Given the description of an element on the screen output the (x, y) to click on. 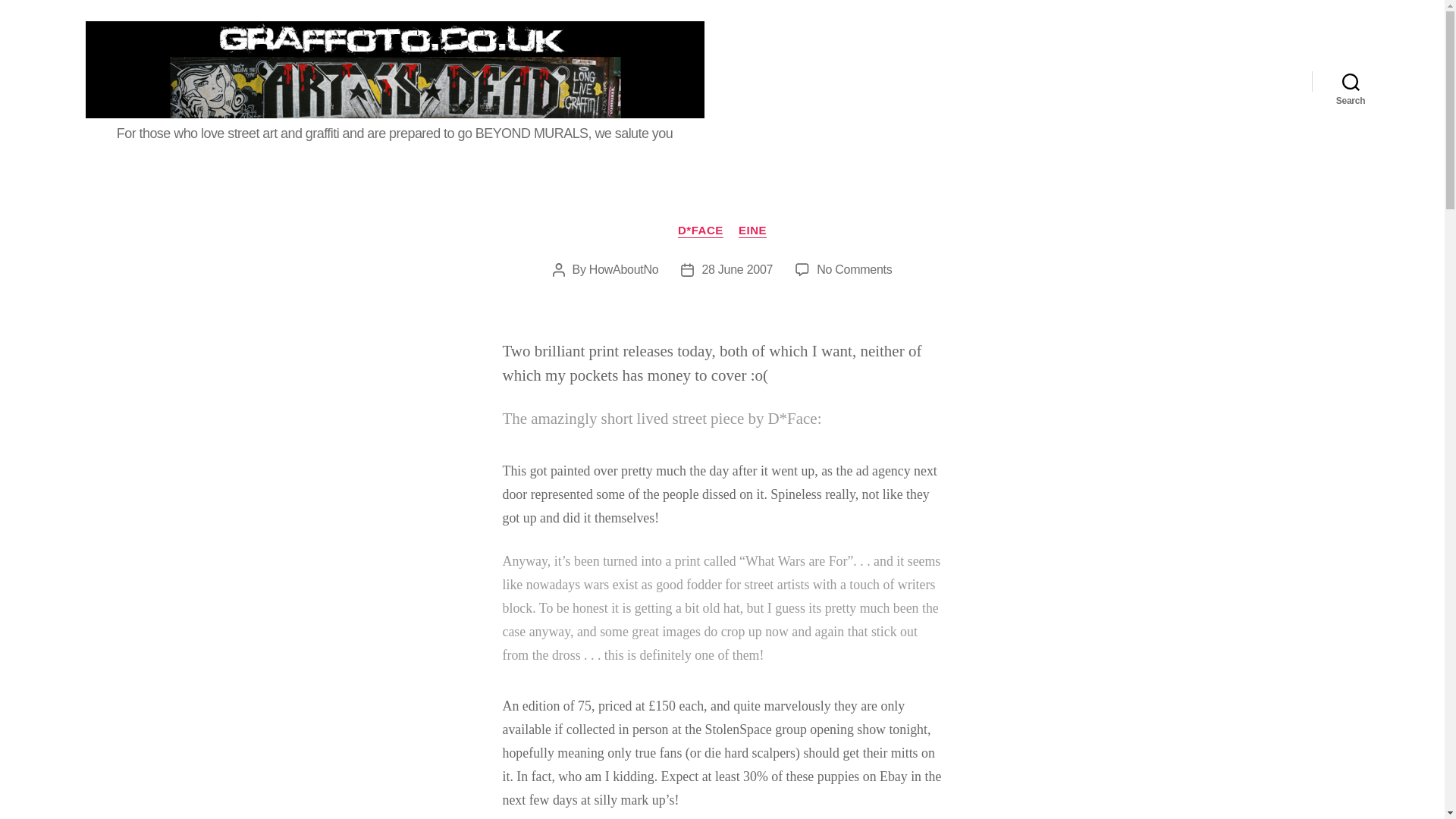
EINE (752, 230)
28 June 2007 (737, 269)
Search (1350, 80)
HowAboutNo (624, 269)
